Given the description of an element on the screen output the (x, y) to click on. 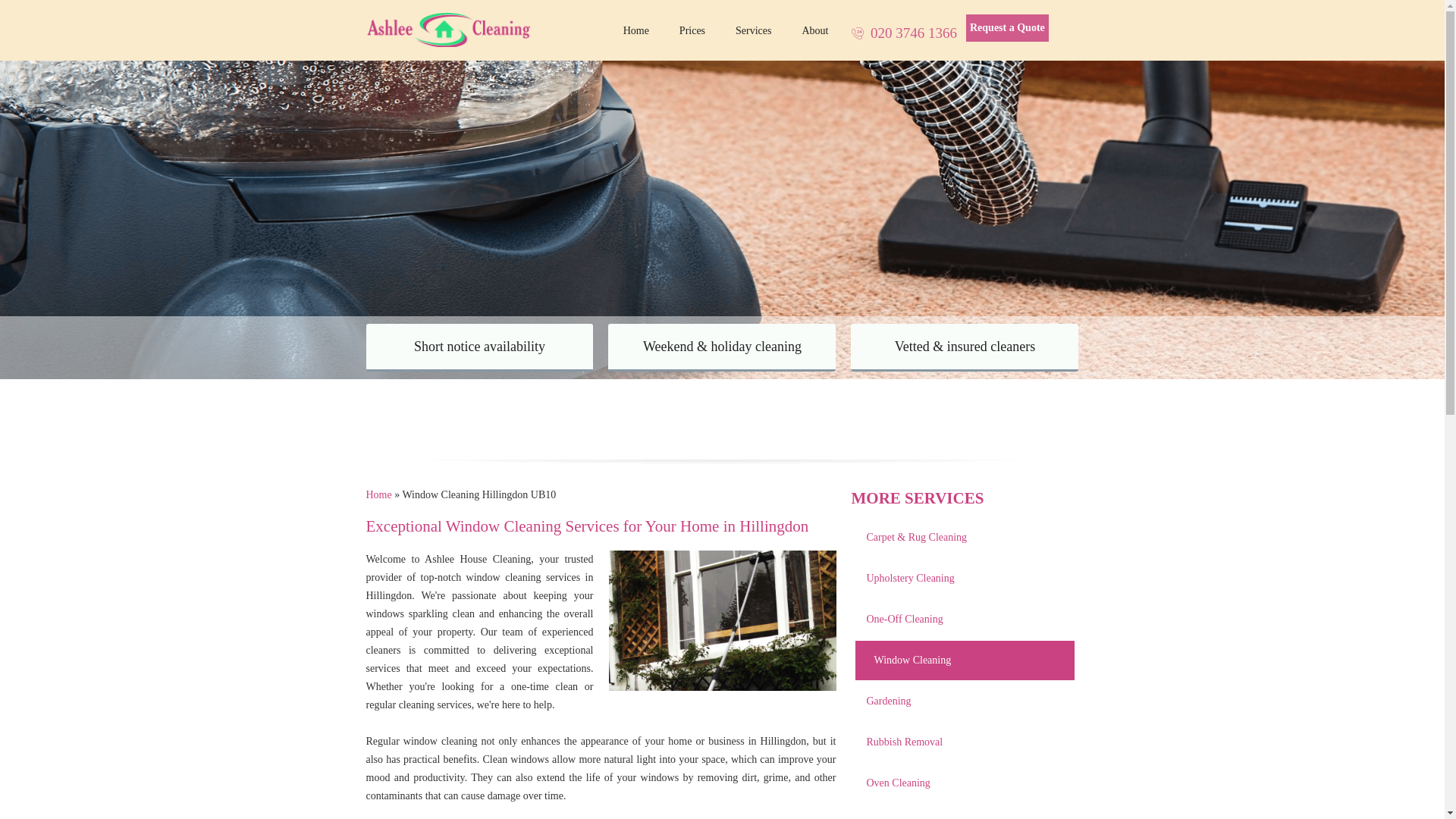
Cleaning Services in London (753, 31)
Services (753, 31)
Professional Cleaning in London (636, 31)
Home (636, 31)
Gardening (965, 701)
020 3746 1366 (903, 32)
Ashlee House Cleaning (448, 28)
Prices (692, 31)
Request a Quote (1007, 27)
Upholstery Cleaning (965, 578)
Cleaning London Prices (692, 31)
Call Ashlee House Cleaning on 020 3746 1366 (903, 32)
One-Off Cleaning (965, 619)
Home (378, 494)
Request a Quote (1007, 27)
